Given the description of an element on the screen output the (x, y) to click on. 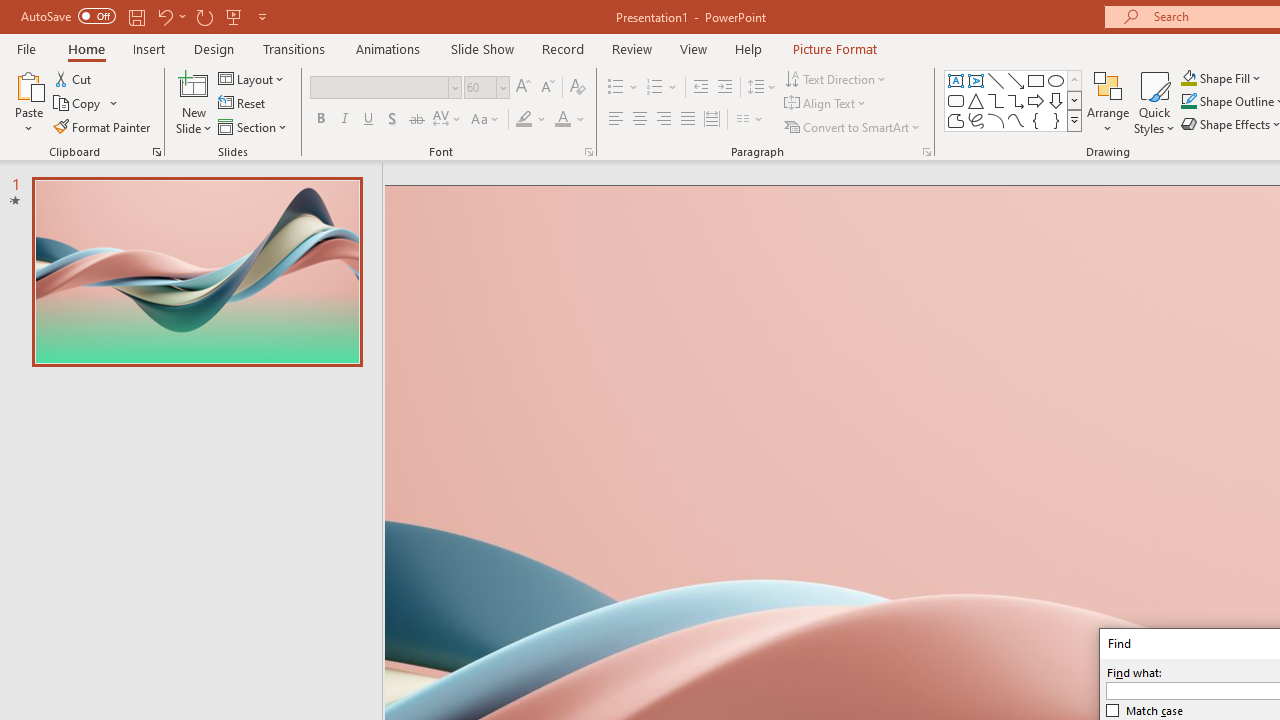
From Beginning (234, 15)
Cut (73, 78)
Shadow (392, 119)
Customize Quick Access Toolbar (262, 15)
Text Highlight Color (531, 119)
Text Highlight Color Yellow (524, 119)
Numbering (661, 87)
Curve (1016, 120)
Help (748, 48)
Insert (149, 48)
Animations (388, 48)
Redo (204, 15)
Design (214, 48)
Distributed (712, 119)
Left Brace (1035, 120)
